Given the description of an element on the screen output the (x, y) to click on. 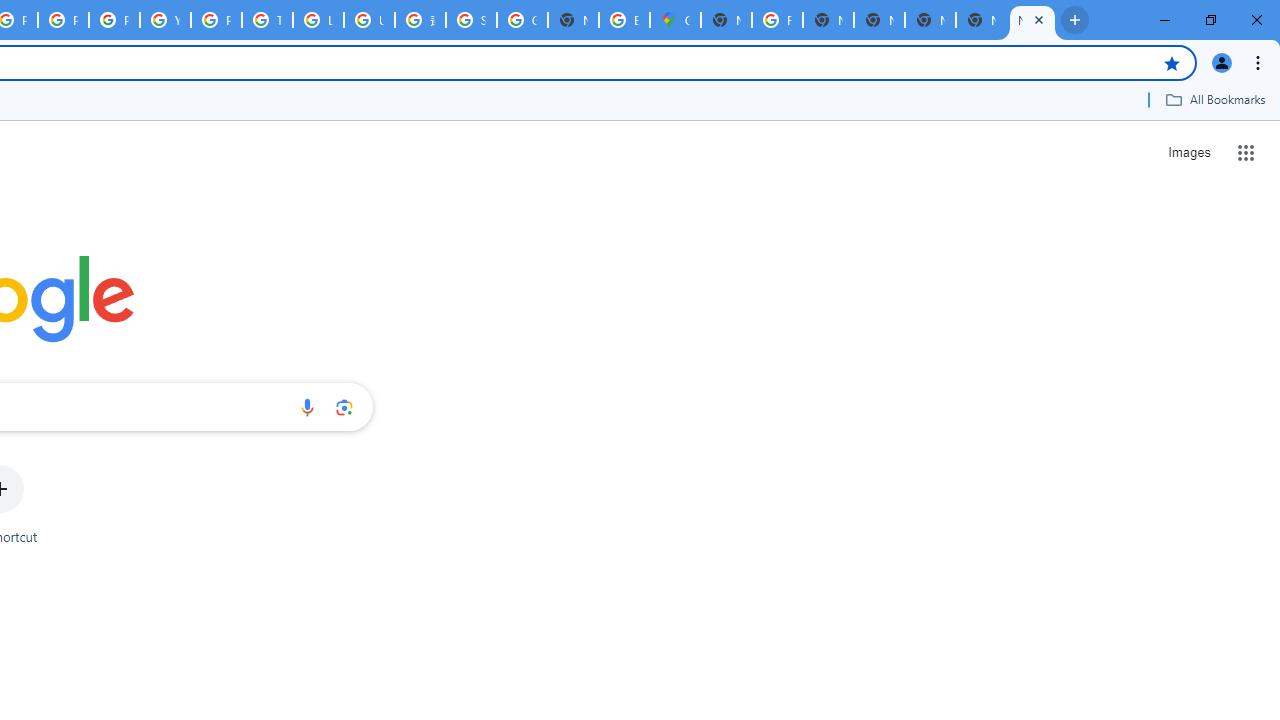
Search by voice (307, 407)
YouTube (164, 20)
Google Maps (675, 20)
Search by image (344, 407)
Search for Images  (1188, 152)
Tips & tricks for Chrome - Google Chrome Help (267, 20)
